Given the description of an element on the screen output the (x, y) to click on. 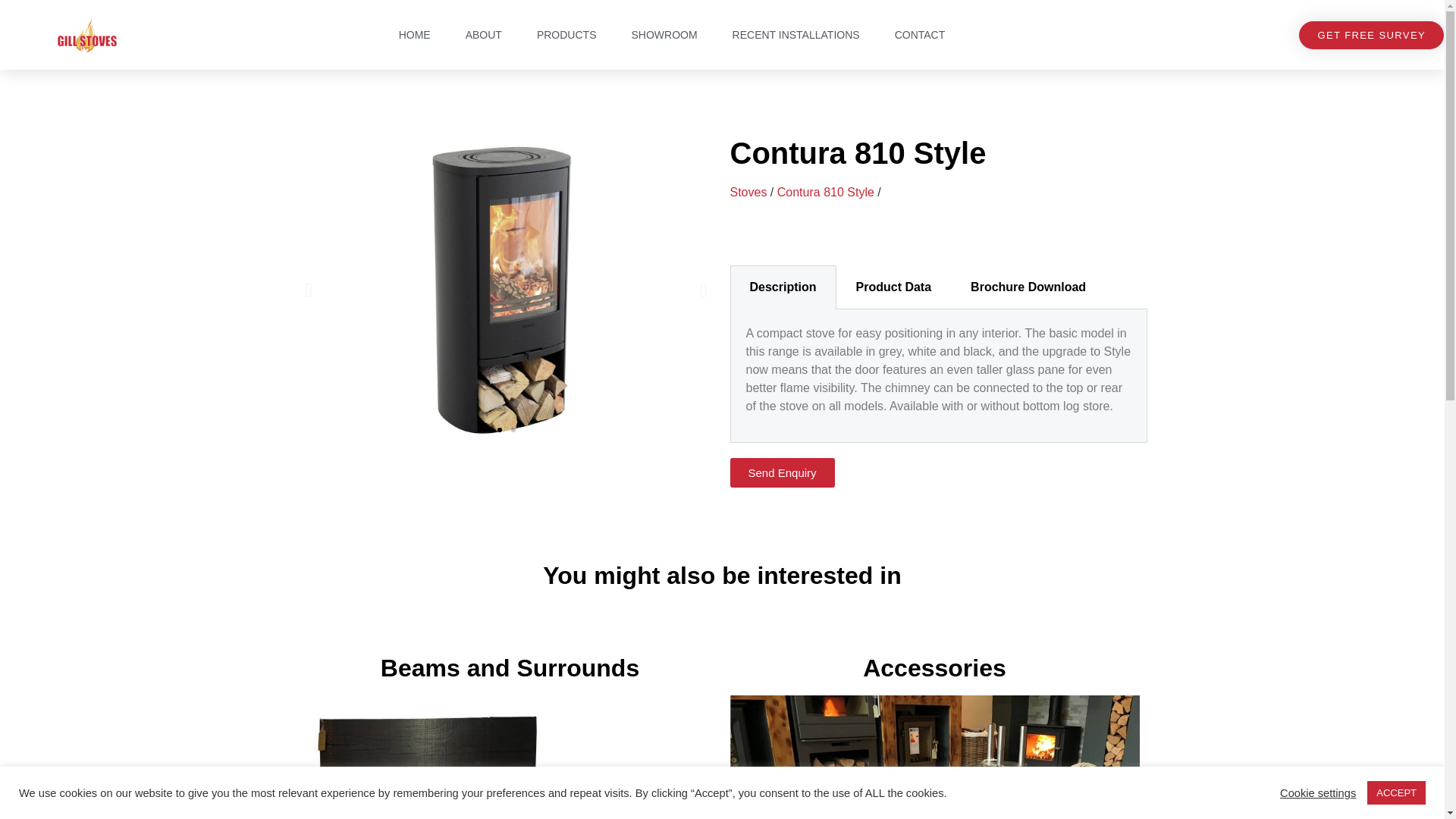
CONTACT (919, 34)
ABOUT (482, 34)
HOME (414, 34)
SHOWROOM (663, 34)
GET FREE SURVEY (1371, 35)
RECENT INSTALLATIONS (796, 34)
PRODUCTS (566, 34)
